Given the description of an element on the screen output the (x, y) to click on. 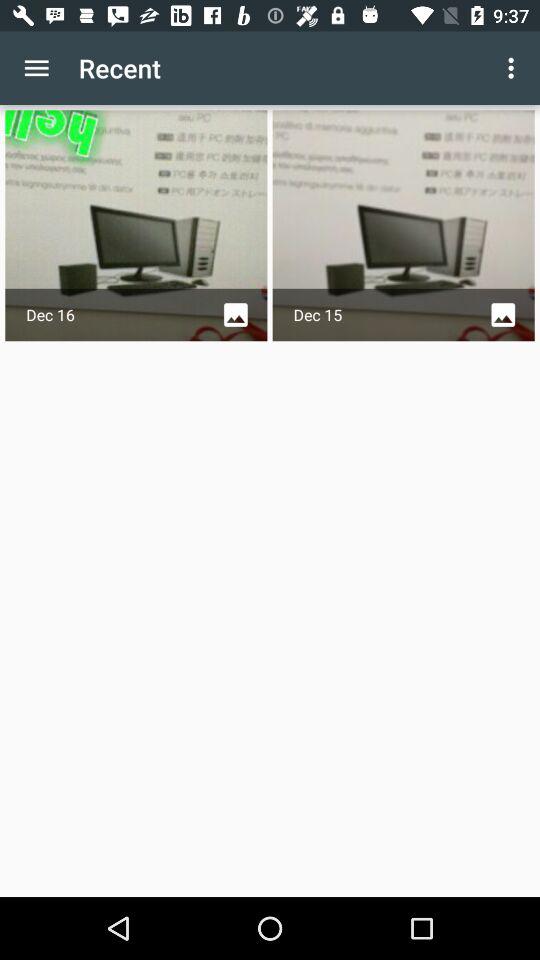
tap the app to the right of recent icon (513, 67)
